Given the description of an element on the screen output the (x, y) to click on. 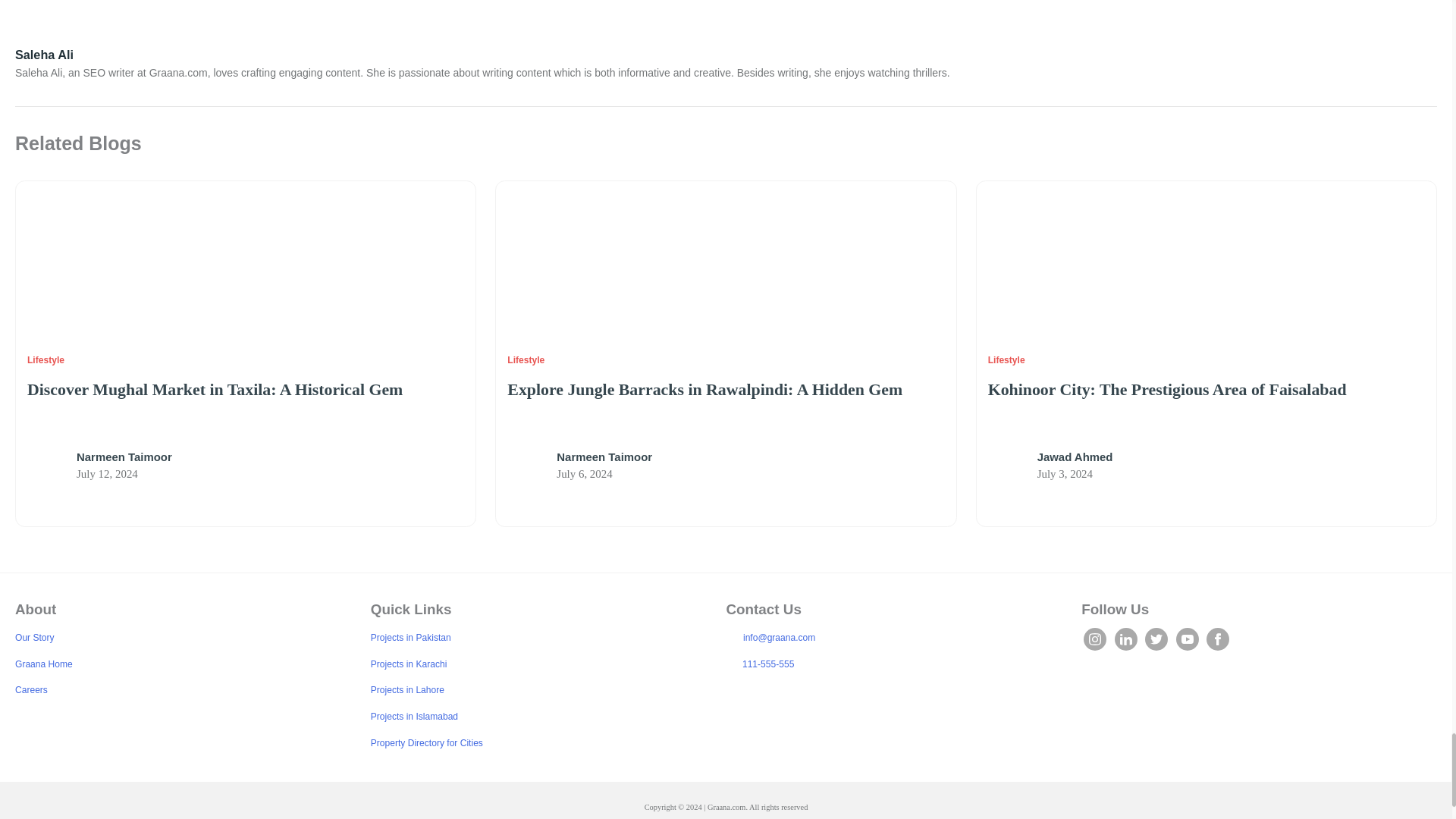
View all posts by Narmeen Taimoor (124, 456)
Graana Phone (730, 663)
View all posts by Jawad Ahmed (1074, 456)
Jawad Ahmed (1007, 467)
View all posts by Narmeen Taimoor (604, 456)
Narmeen Taimoor (46, 467)
Graana Email (731, 637)
Narmeen Taimoor (525, 467)
